Given the description of an element on the screen output the (x, y) to click on. 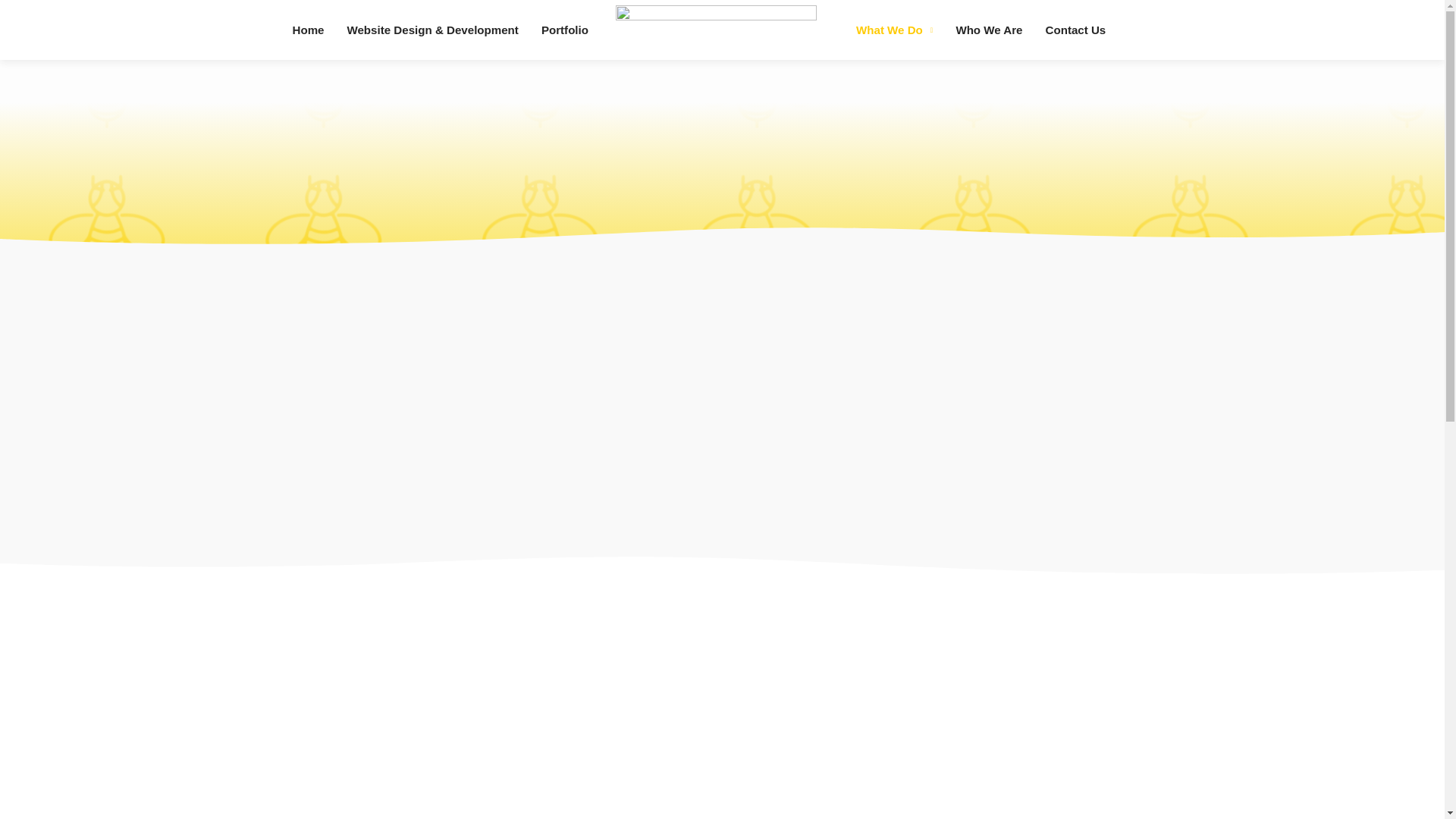
Contact Us (1075, 23)
Who We Are (988, 23)
Portfolio (564, 23)
What We Do (893, 23)
Home (307, 23)
